Given the description of an element on the screen output the (x, y) to click on. 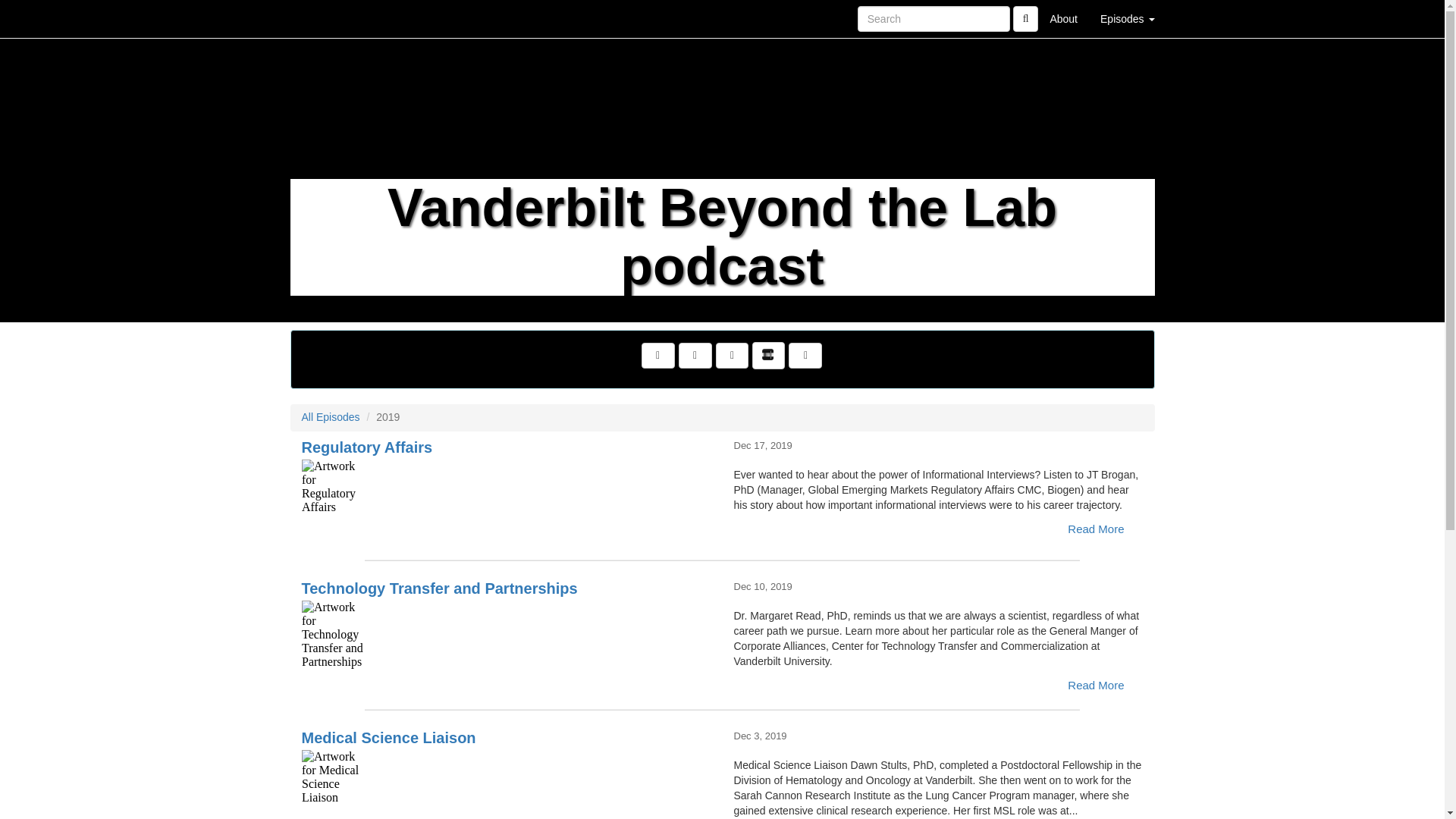
About (1063, 18)
Episodes (1127, 18)
Technology Transfer and Partnerships (506, 634)
Regulatory Affairs (506, 493)
Home Page (320, 18)
Medical Science Liaison (506, 784)
